Given the description of an element on the screen output the (x, y) to click on. 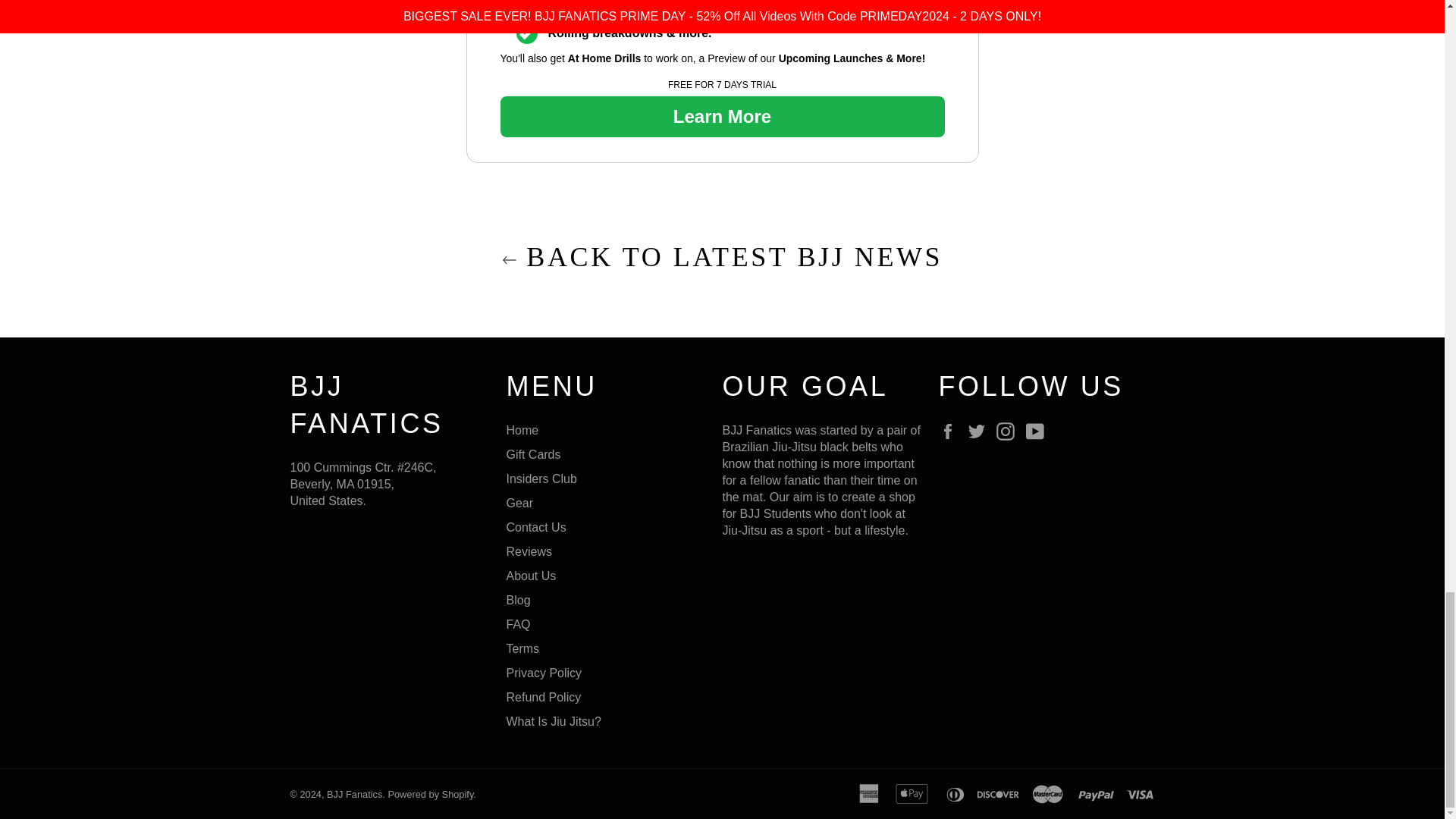
BJJ Fanatics on Twitter (980, 431)
BJJ Fanatics on Facebook (951, 431)
BJJ Fanatics on Instagram (1008, 431)
BJJ Fanatics on YouTube (1038, 431)
